Given the description of an element on the screen output the (x, y) to click on. 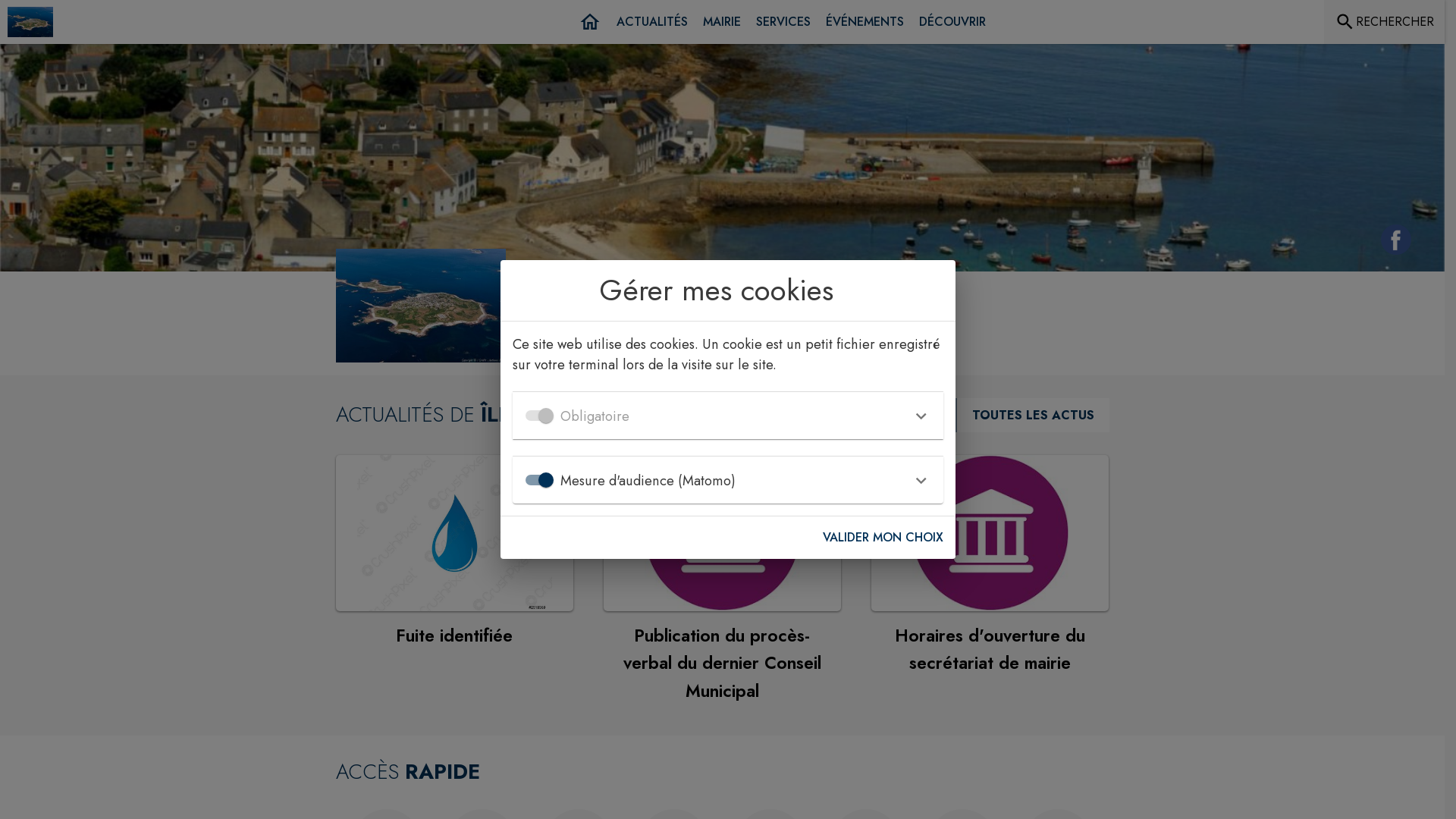
Accueil Element type: hover (30, 21)
Accueil Element type: hover (589, 21)
RECHERCHER Element type: text (1384, 21)
TOUTES LES ACTUS Element type: text (1031, 415)
VALIDER MON CHOIX Element type: text (882, 537)
